Given the description of an element on the screen output the (x, y) to click on. 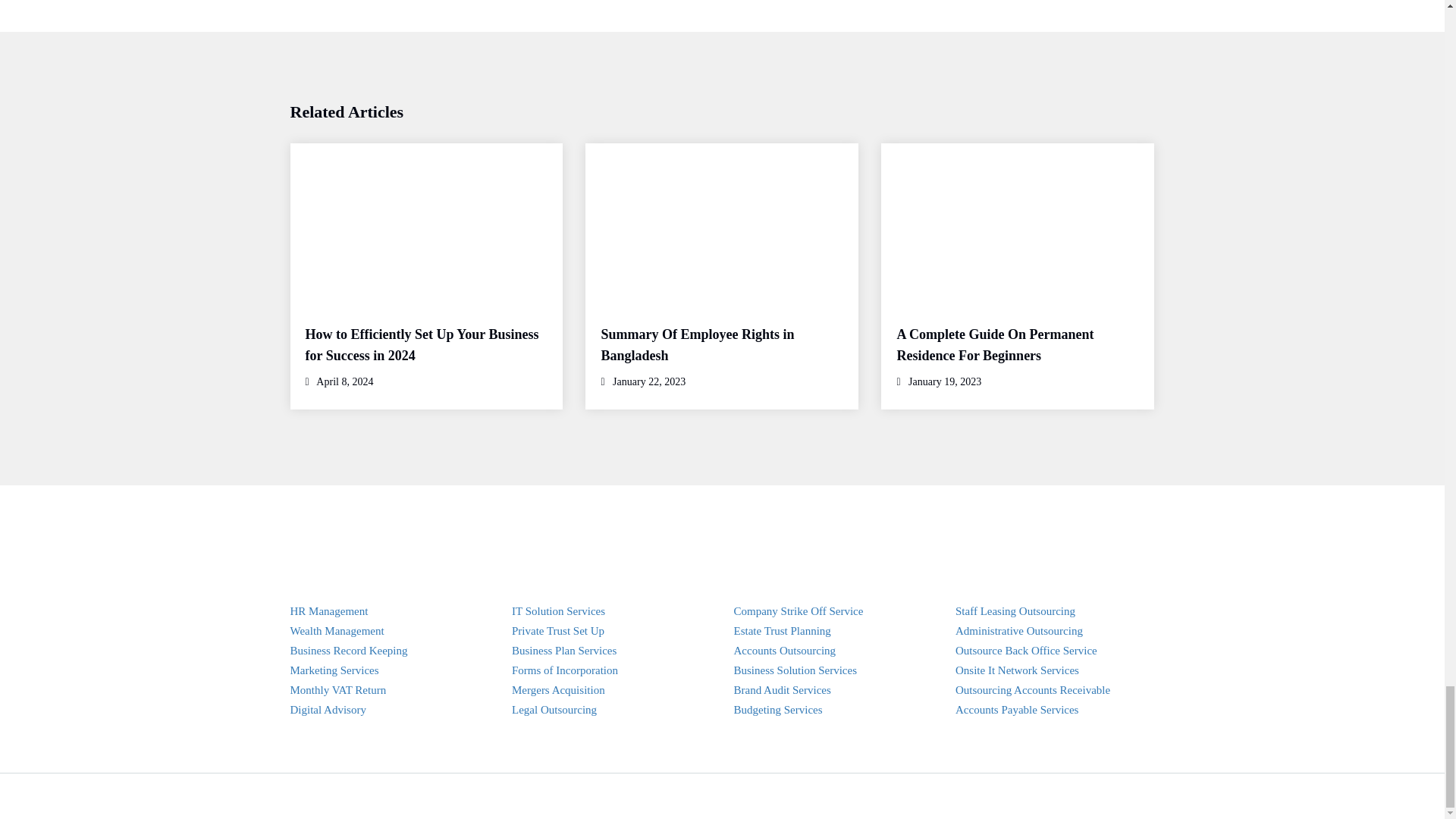
How to Efficiently Set Up Your Business for Success in 2024 (421, 344)
A Complete Guide On Permanent Residence For Beginners (994, 344)
Summary Of Employee Rights in Bangladesh (696, 344)
